Given the description of an element on the screen output the (x, y) to click on. 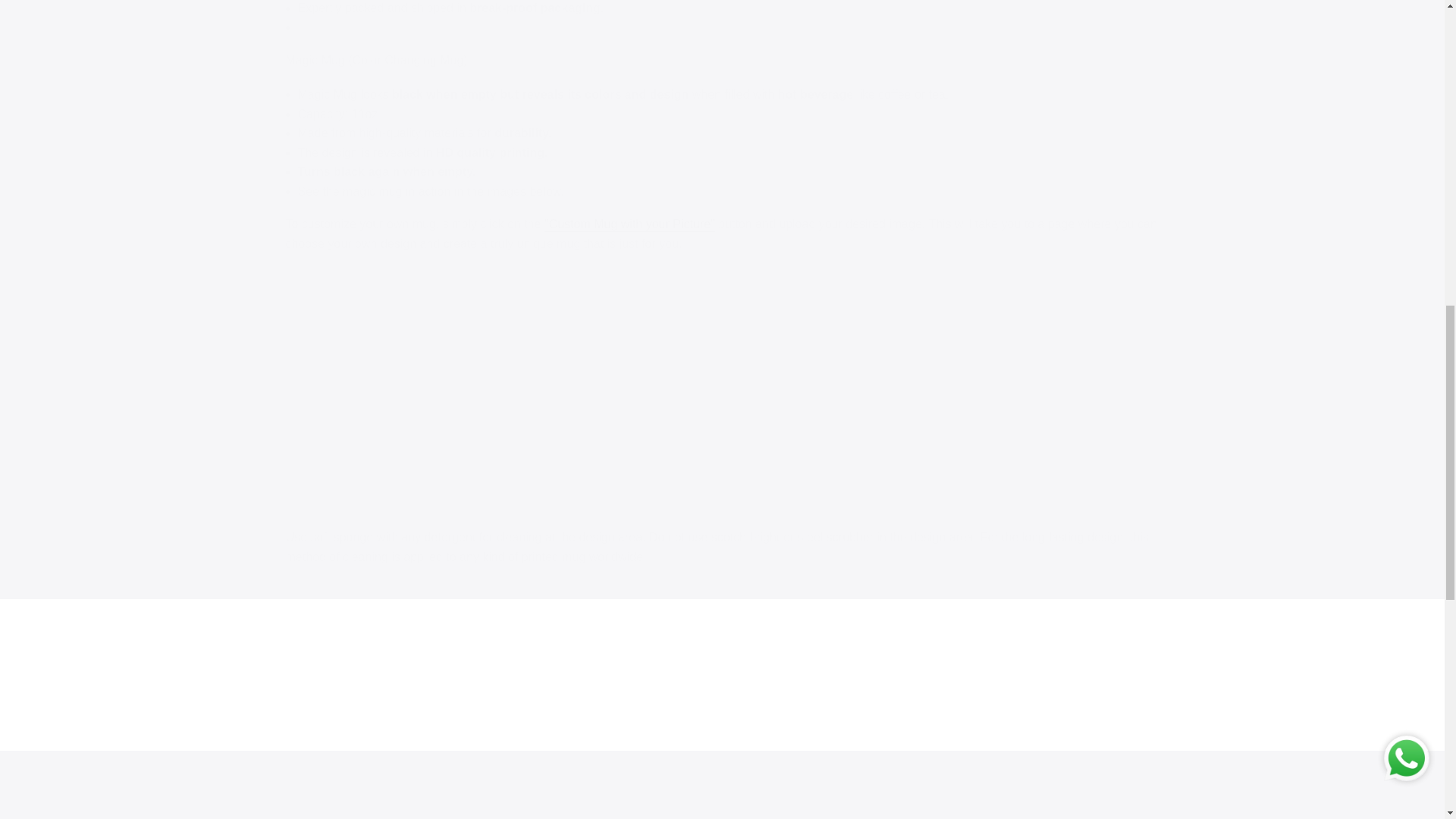
"Custom Mug with your Picture" (629, 224)
